Given the description of an element on the screen output the (x, y) to click on. 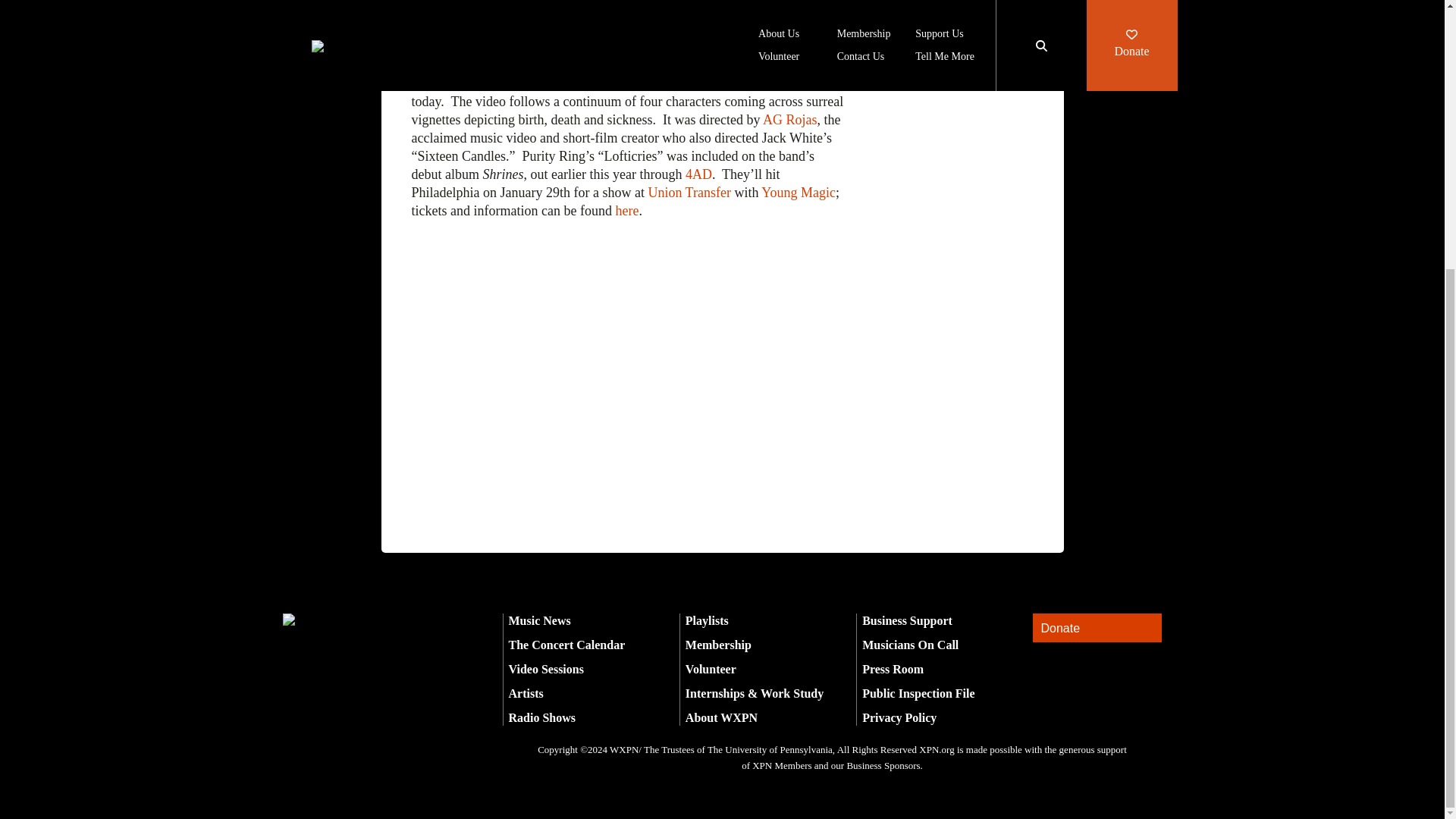
Pitchfork.tv (807, 83)
Video Sessions (545, 668)
Purity Ring (526, 83)
AG Rojas (789, 119)
Public Inspection File (917, 693)
Radio Shows (541, 717)
Young Magic (798, 192)
Press Room (892, 668)
About WXPN (721, 717)
Artists (525, 693)
